Given the description of an element on the screen output the (x, y) to click on. 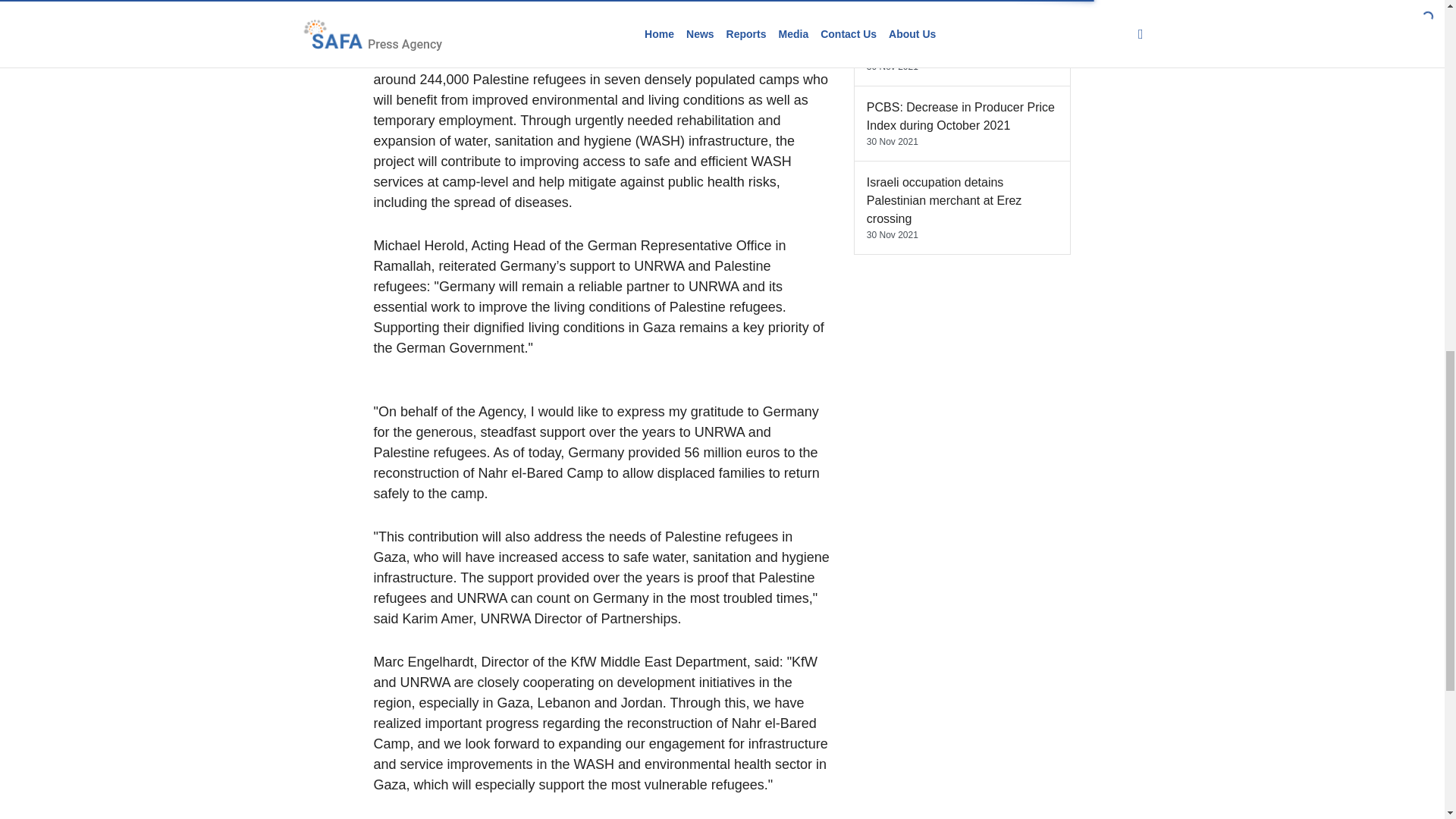
PCBS: Decrease in Producer Price Index during October 2021 (960, 115)
